Given the description of an element on the screen output the (x, y) to click on. 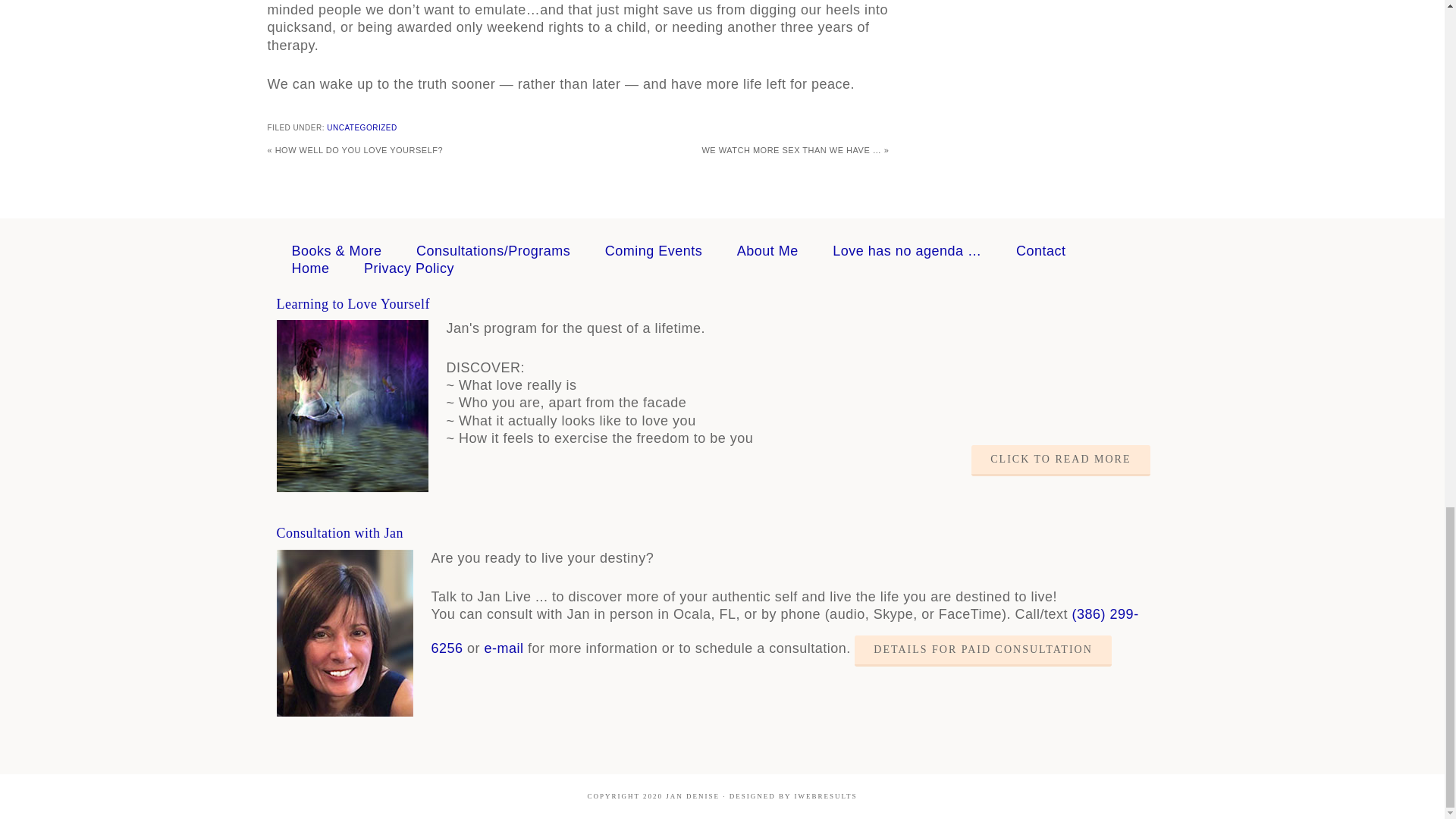
Home (310, 268)
e-mail (504, 648)
Coming Events (654, 250)
Privacy Policy (409, 268)
Contact (1040, 250)
CLICK TO READ MORE (1060, 460)
Web Design Ocala (825, 796)
UNCATEGORIZED (361, 127)
About Me (766, 250)
DETAILS FOR PAID CONSULTATION (982, 650)
